Given the description of an element on the screen output the (x, y) to click on. 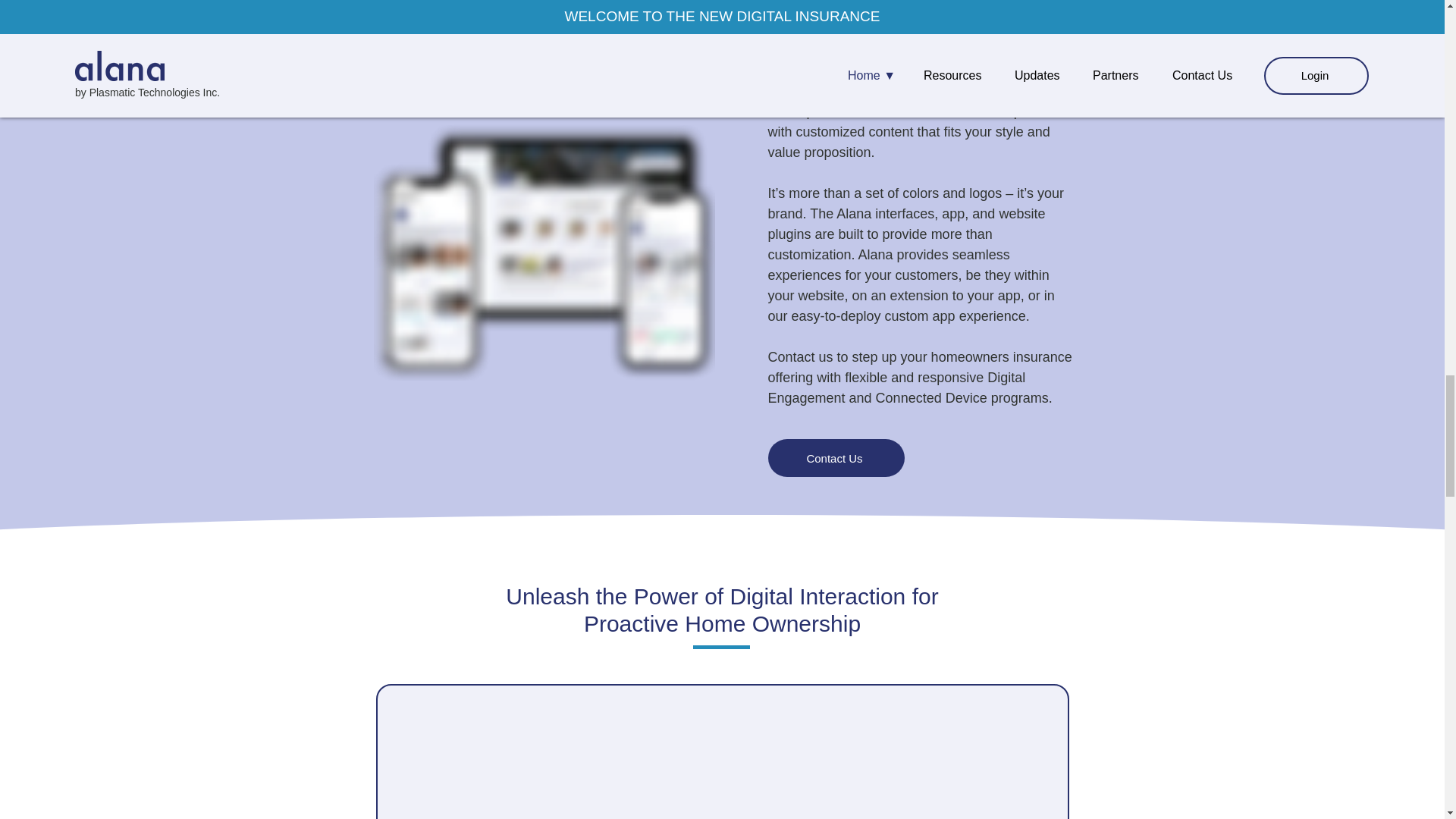
Contact Us (835, 457)
